Given the description of an element on the screen output the (x, y) to click on. 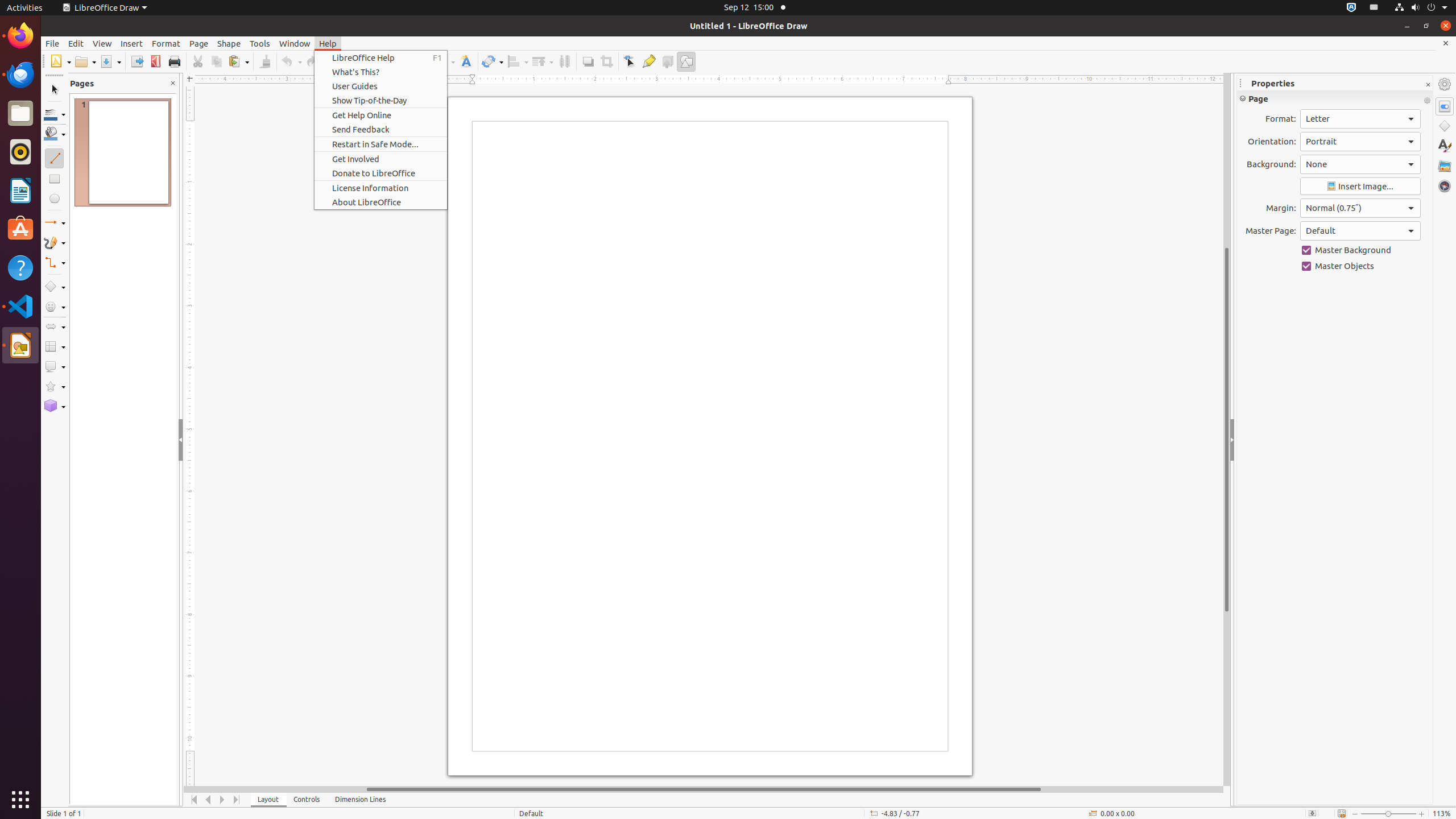
Get Help Online Element type: menu-item (380, 115)
Open Element type: push-button (84, 61)
Draw Functions Element type: toggle-button (685, 61)
Shapes Element type: radio-button (1444, 126)
Master Objects Element type: check-box (1360, 265)
